Given the description of an element on the screen output the (x, y) to click on. 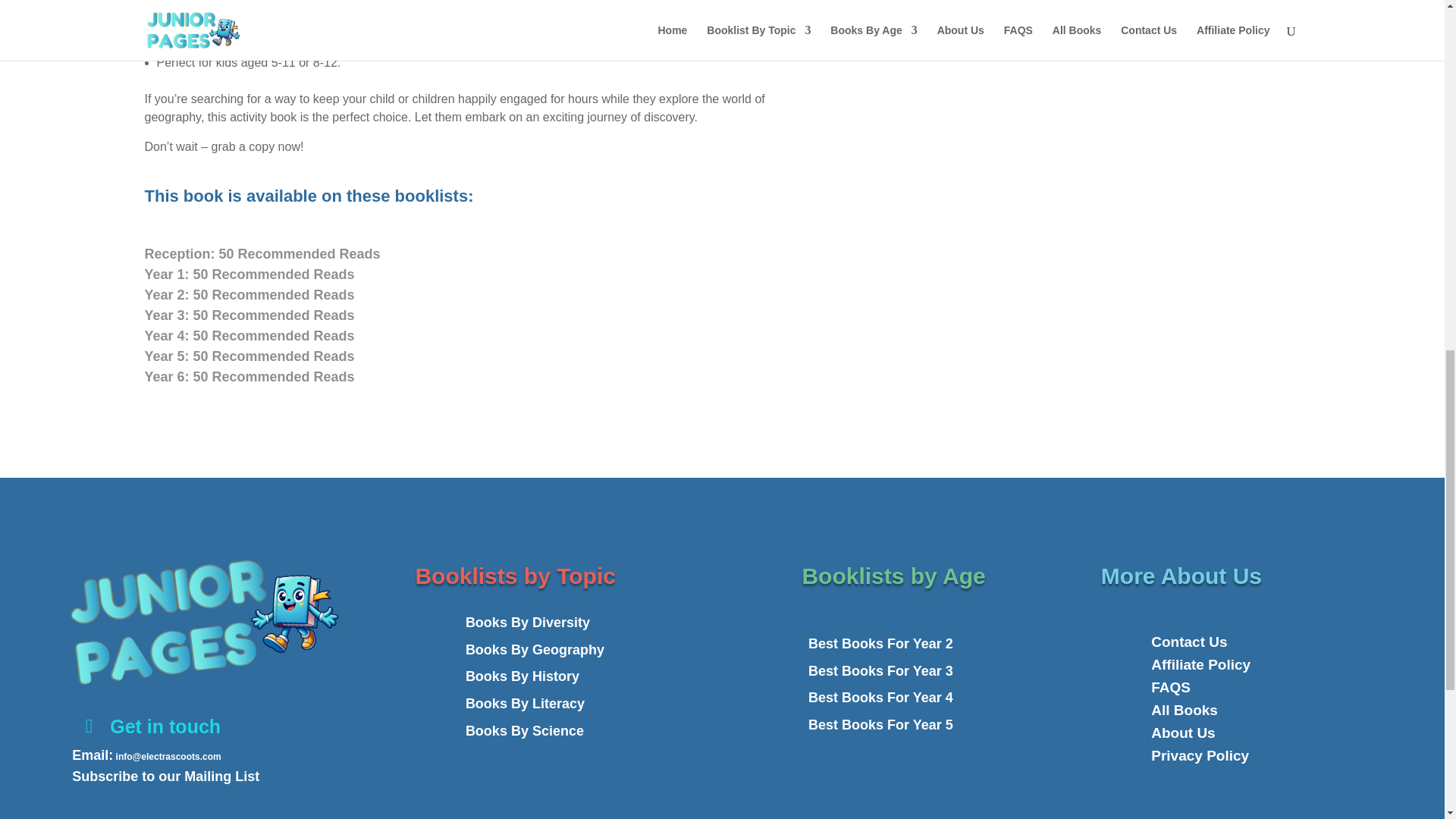
Reception: 50 Recommended Reads (478, 254)
Year 1: 50 Recommended Reads (478, 274)
Year 2: 50 Recommended Reads (478, 295)
